Given the description of an element on the screen output the (x, y) to click on. 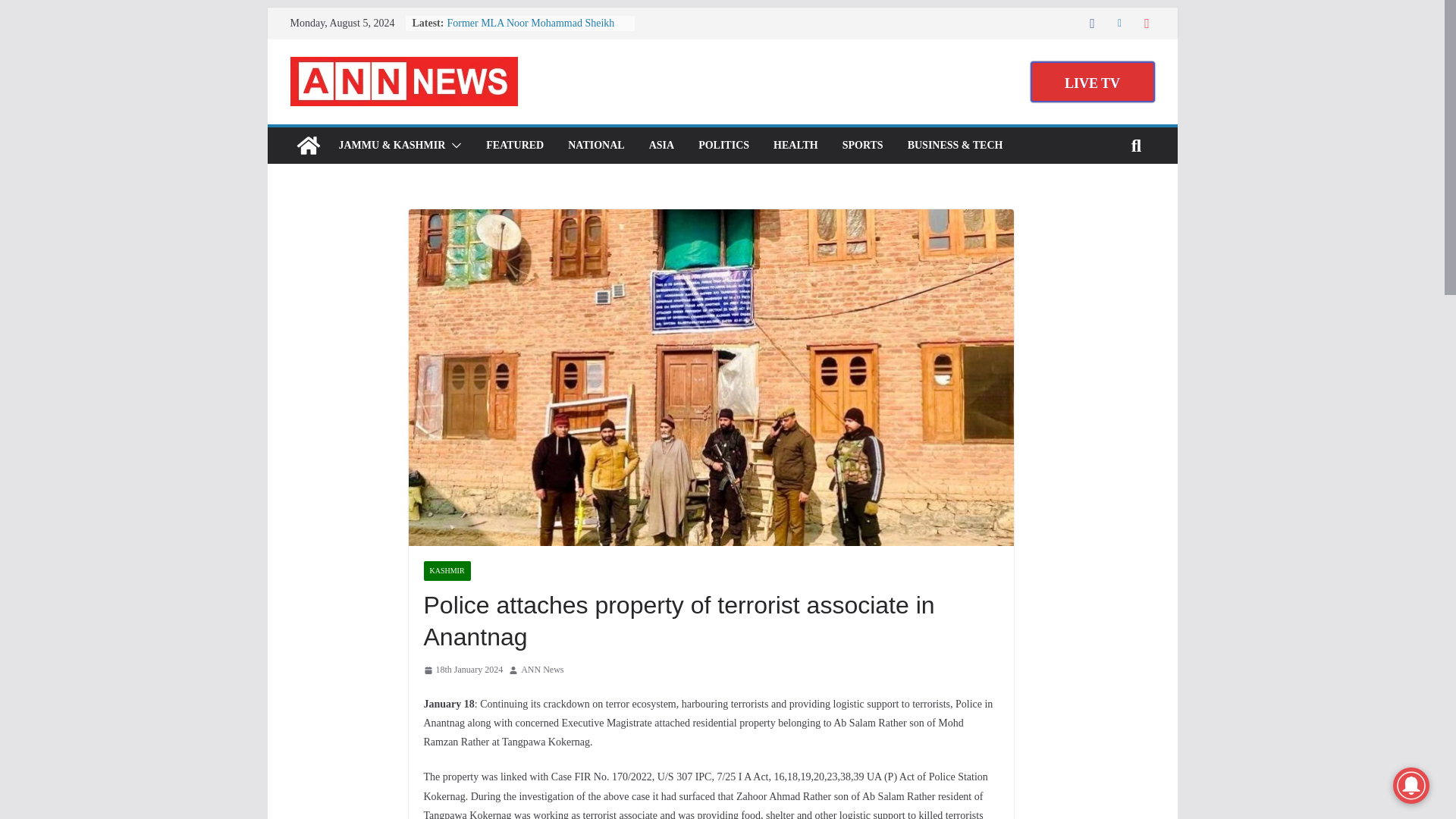
ANN News (542, 669)
KASHMIR (446, 570)
ANN News (307, 145)
18th January 2024 (462, 669)
7:25 pm (462, 669)
ANN News (542, 669)
POLITICS (723, 145)
NATIONAL (595, 145)
ASIA (661, 145)
